Given the description of an element on the screen output the (x, y) to click on. 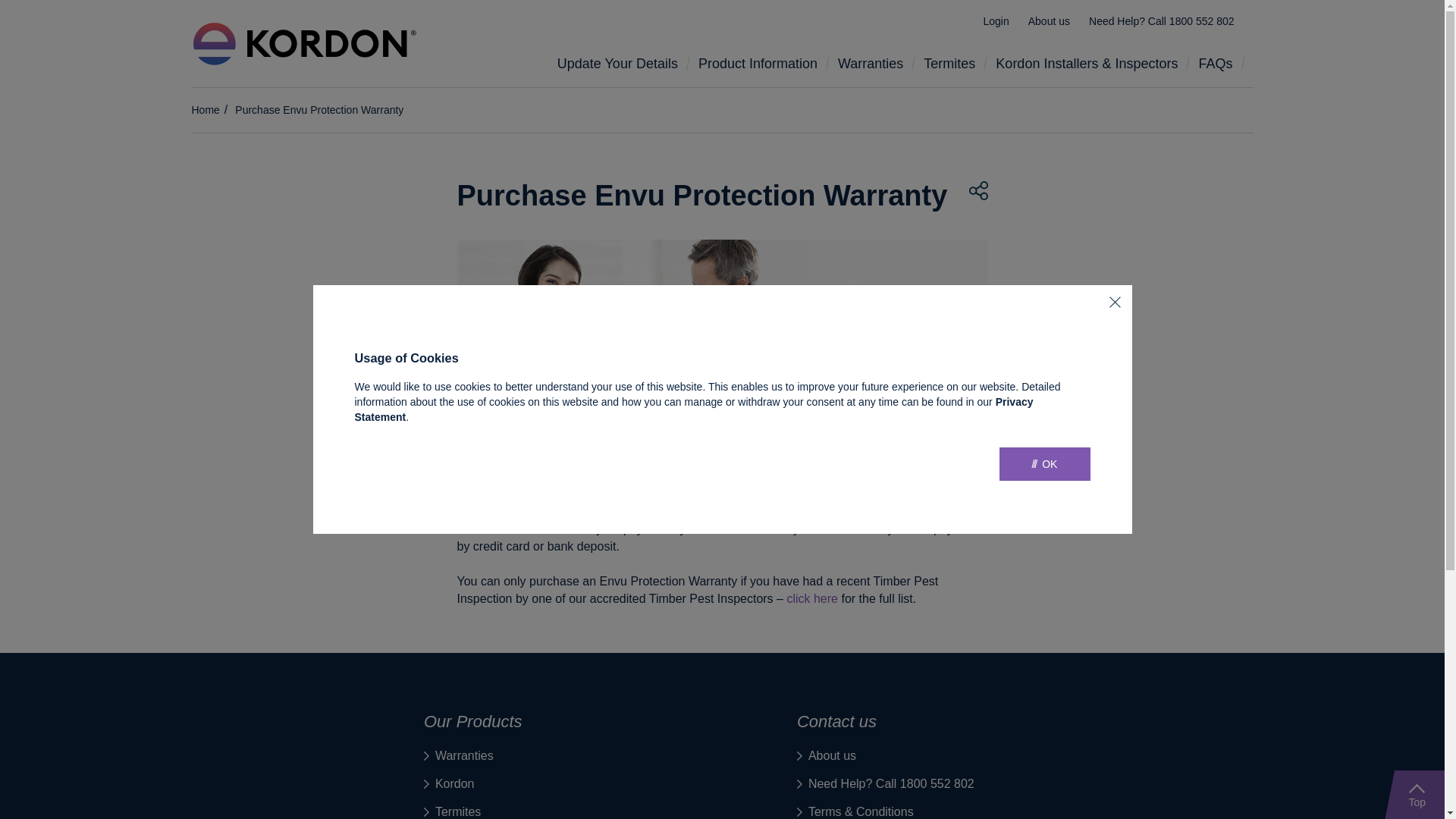
About us Element type: text (1049, 21)
Need Help? Call 1800 552 802 Element type: text (1160, 21)
click here Element type: text (811, 598)
Login Element type: text (995, 21)
Kordon Element type: text (448, 783)
Kordon Installers & Inspectors Element type: text (1090, 63)
Warranties Element type: text (874, 63)
Purchase Envu Protection Warranty Element type: text (319, 109)
Share Element type: text (978, 190)
Privacy Statement Element type: text (693, 409)
Product Information Element type: text (762, 63)
OK Element type: text (1044, 463)
Termites Element type: text (953, 63)
Home Element type: text (205, 109)
Warranties Element type: text (458, 755)
FAQs Element type: text (1219, 63)
Need Help? Call 1800 552 802 Element type: text (885, 783)
About us Element type: text (826, 755)
Update Your Details Element type: text (622, 63)
